Given the description of an element on the screen output the (x, y) to click on. 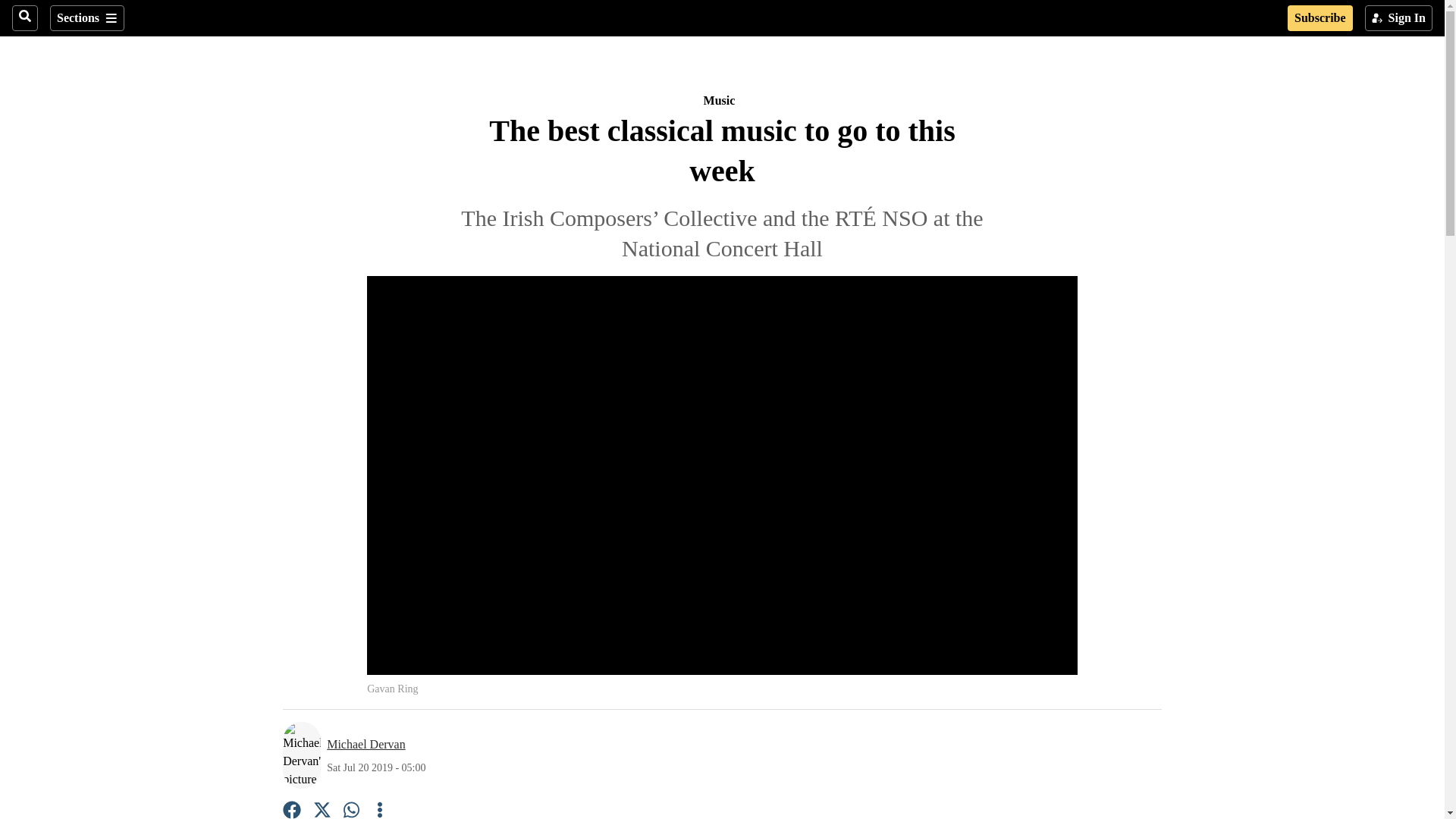
Subscribe (1319, 17)
Facebook (291, 809)
Sign In (1398, 17)
X (322, 809)
Sections (86, 17)
WhatsApp (352, 809)
